Given the description of an element on the screen output the (x, y) to click on. 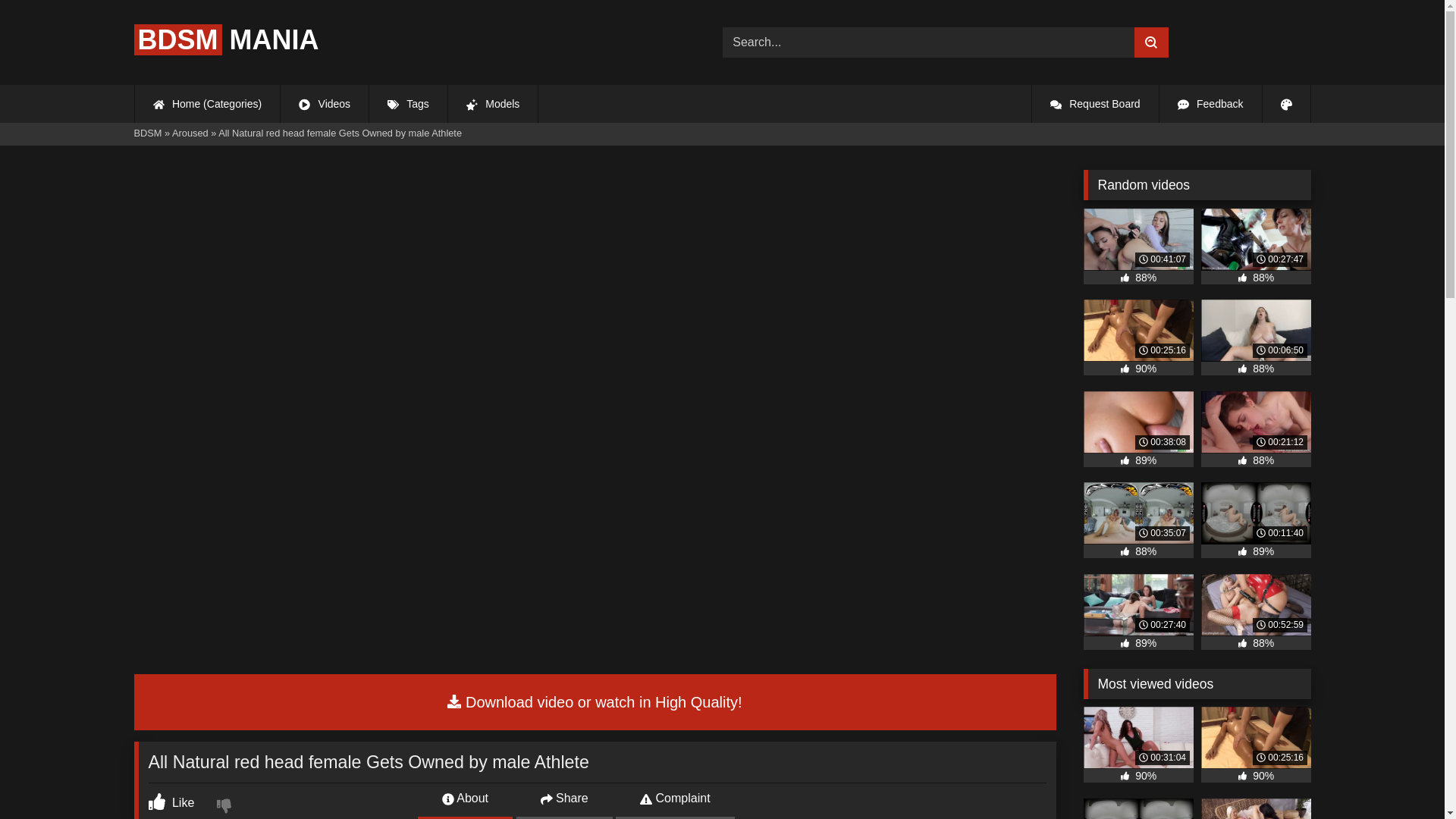
Aroused (189, 132)
Models (493, 103)
Complaint (675, 797)
Download video or watch in High Quality! (594, 702)
BDSM (147, 132)
Search... (928, 42)
I like this (171, 802)
Videos (324, 103)
Request Board (1095, 103)
BDSM MANIA (225, 39)
Find (1151, 42)
Search... (928, 42)
Tags (407, 103)
Feedback (1210, 103)
Feedback (1210, 103)
